Given the description of an element on the screen output the (x, y) to click on. 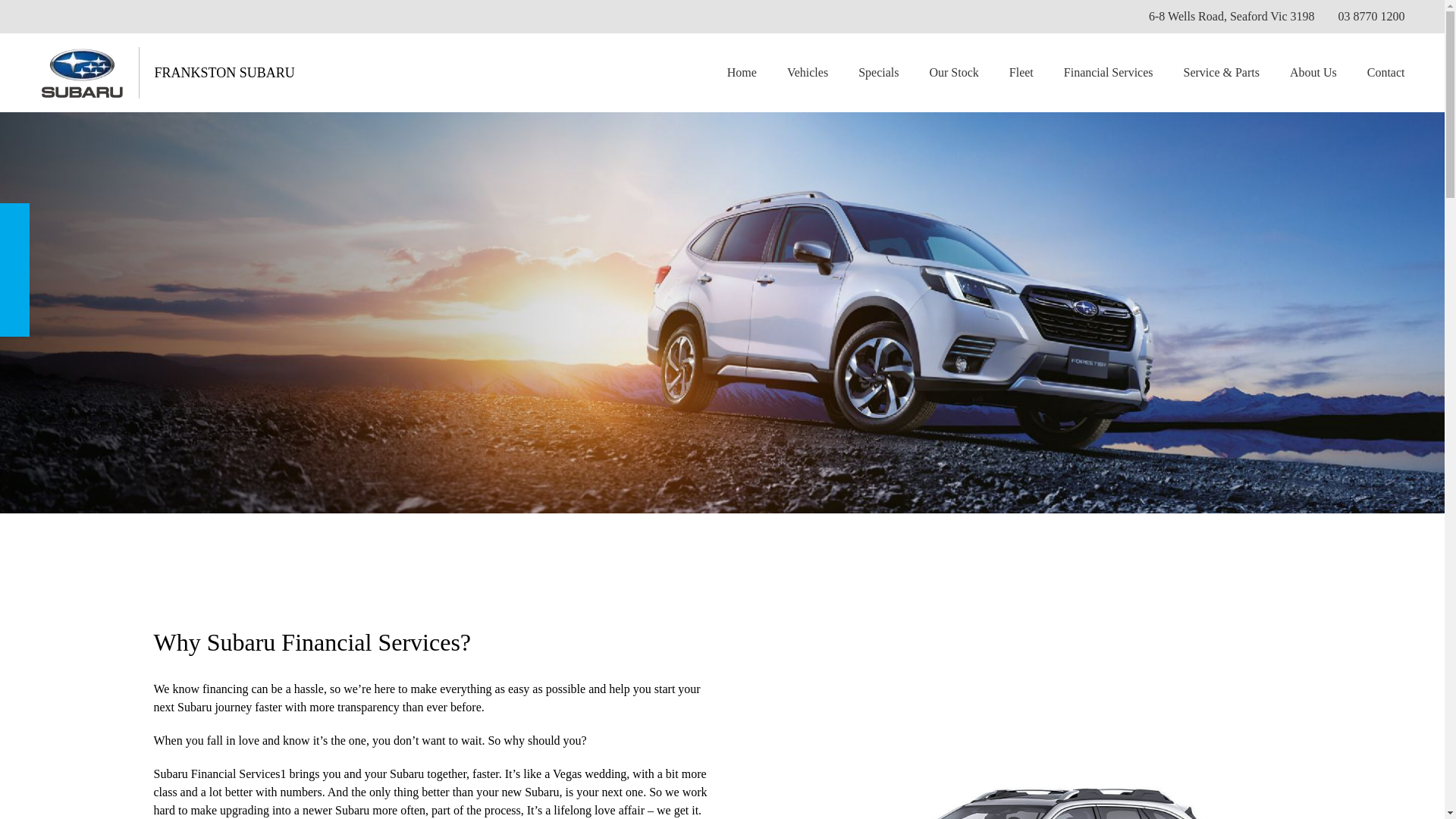
Vehicles (807, 72)
FRANKSTON SUBARU (224, 72)
Home (741, 72)
6-8 Wells Road, Seaford Vic 3198 (1231, 16)
03 8770 1200 (1371, 16)
